Given the description of an element on the screen output the (x, y) to click on. 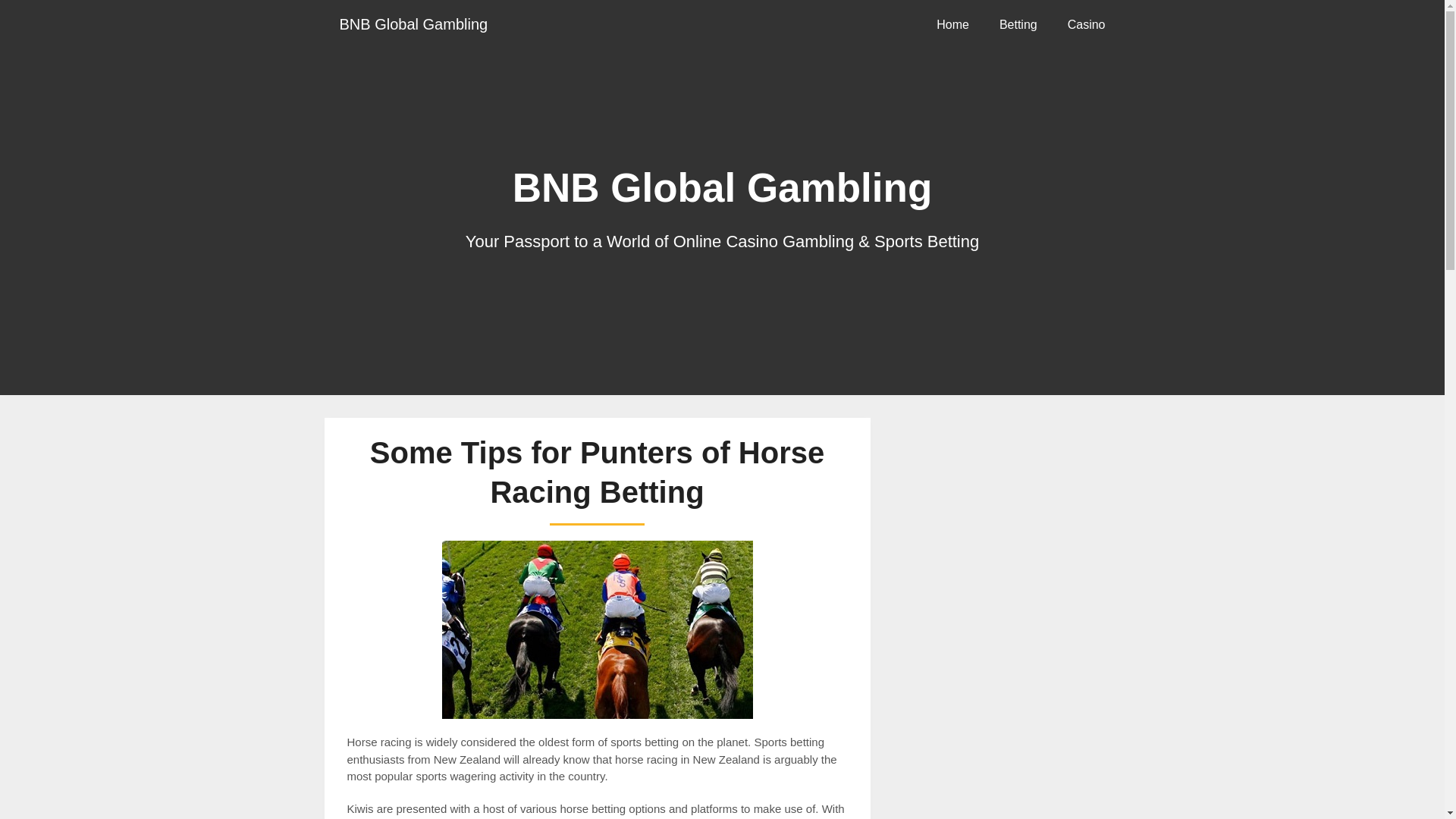
BNB Global Gambling (413, 24)
Betting (1018, 24)
Casino (1086, 24)
Home (952, 24)
